Given the description of an element on the screen output the (x, y) to click on. 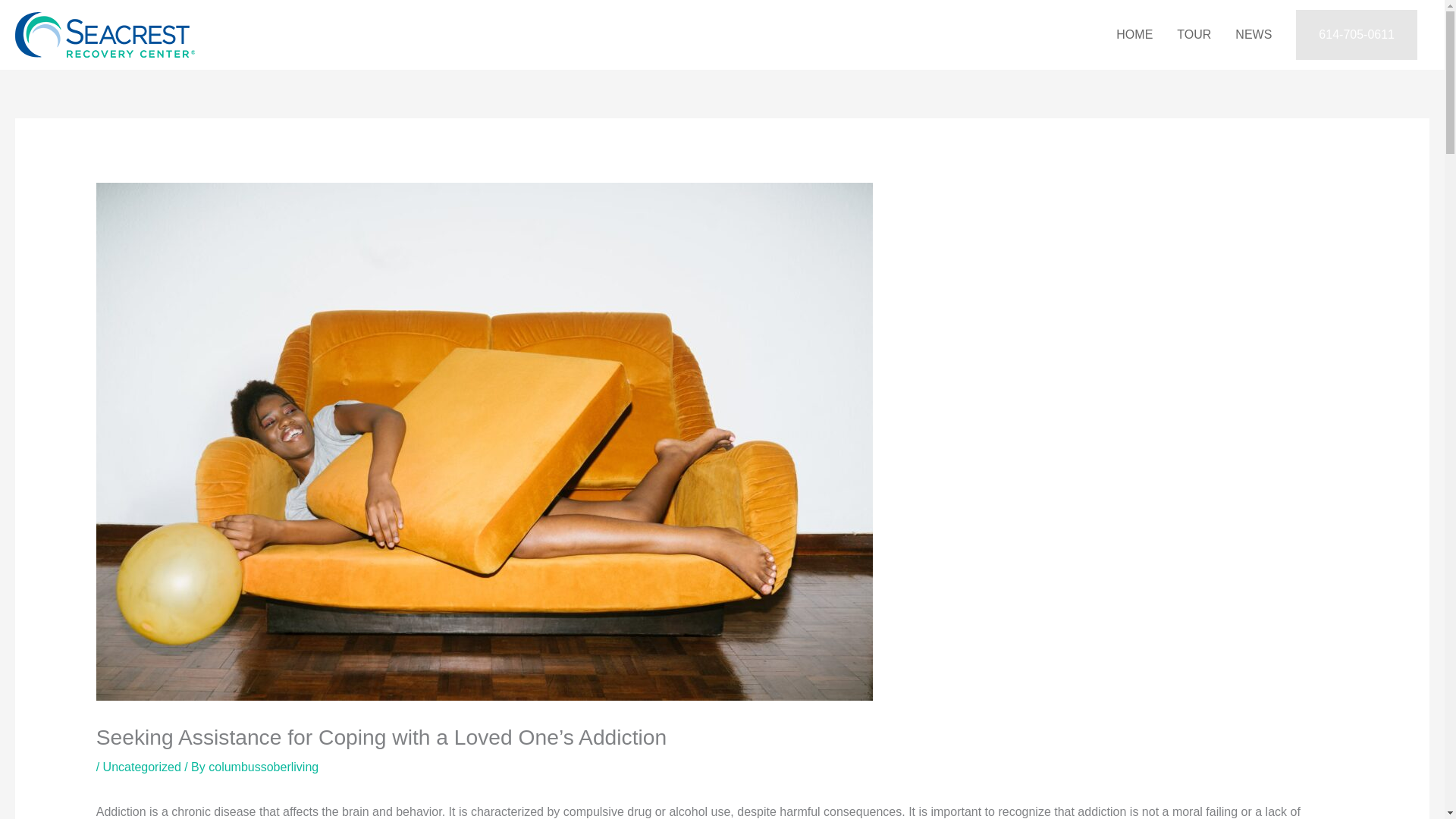
View all posts by columbussoberliving (263, 766)
columbussoberliving (263, 766)
HOME (1133, 34)
Uncategorized (141, 766)
614-705-0611 (1355, 34)
NEWS (1253, 34)
TOUR (1193, 34)
